Given the description of an element on the screen output the (x, y) to click on. 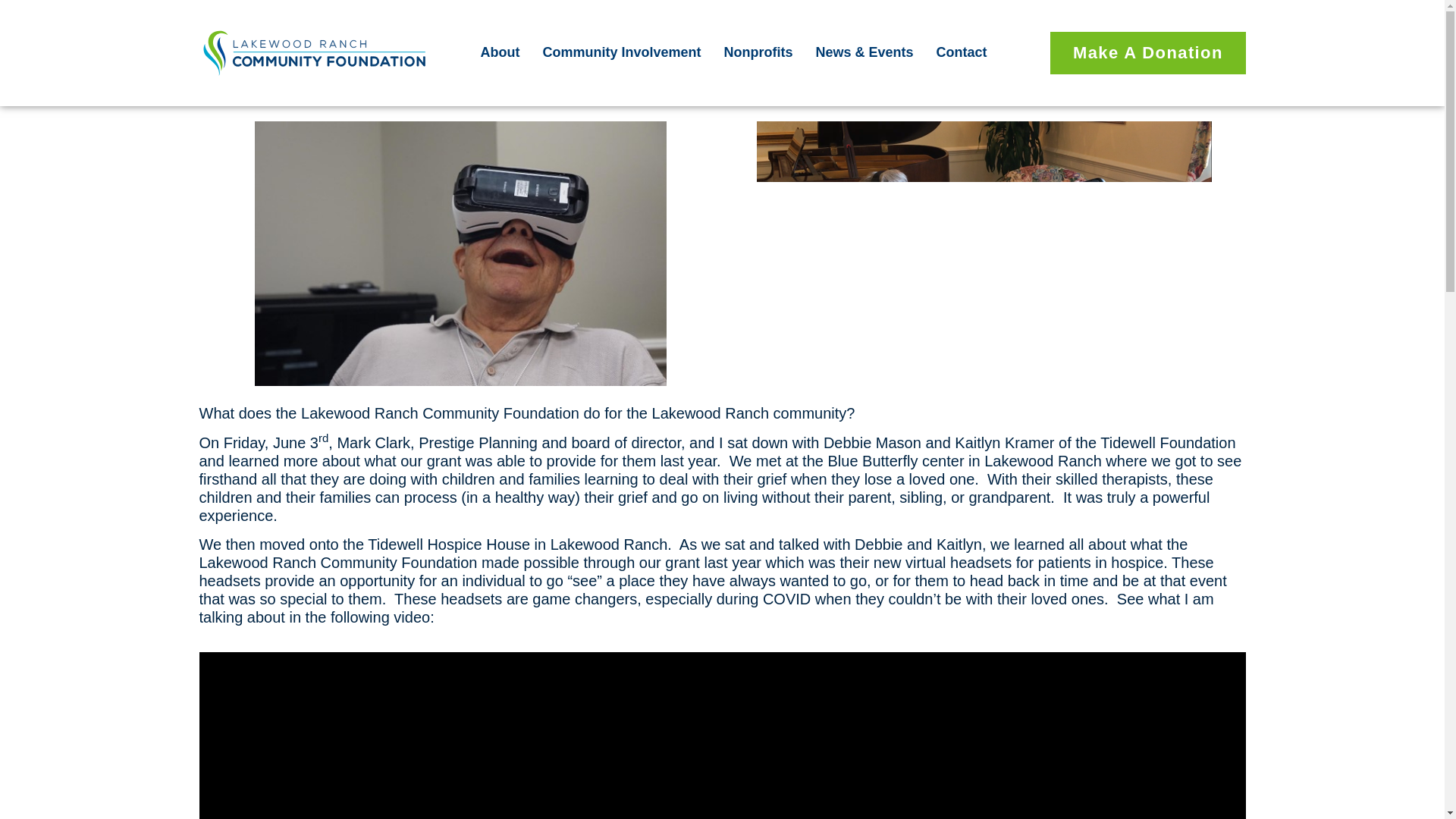
About (499, 52)
Contact (961, 52)
Community Involvement (620, 52)
Make A Donation (1147, 52)
Nonprofits (757, 52)
